Given the description of an element on the screen output the (x, y) to click on. 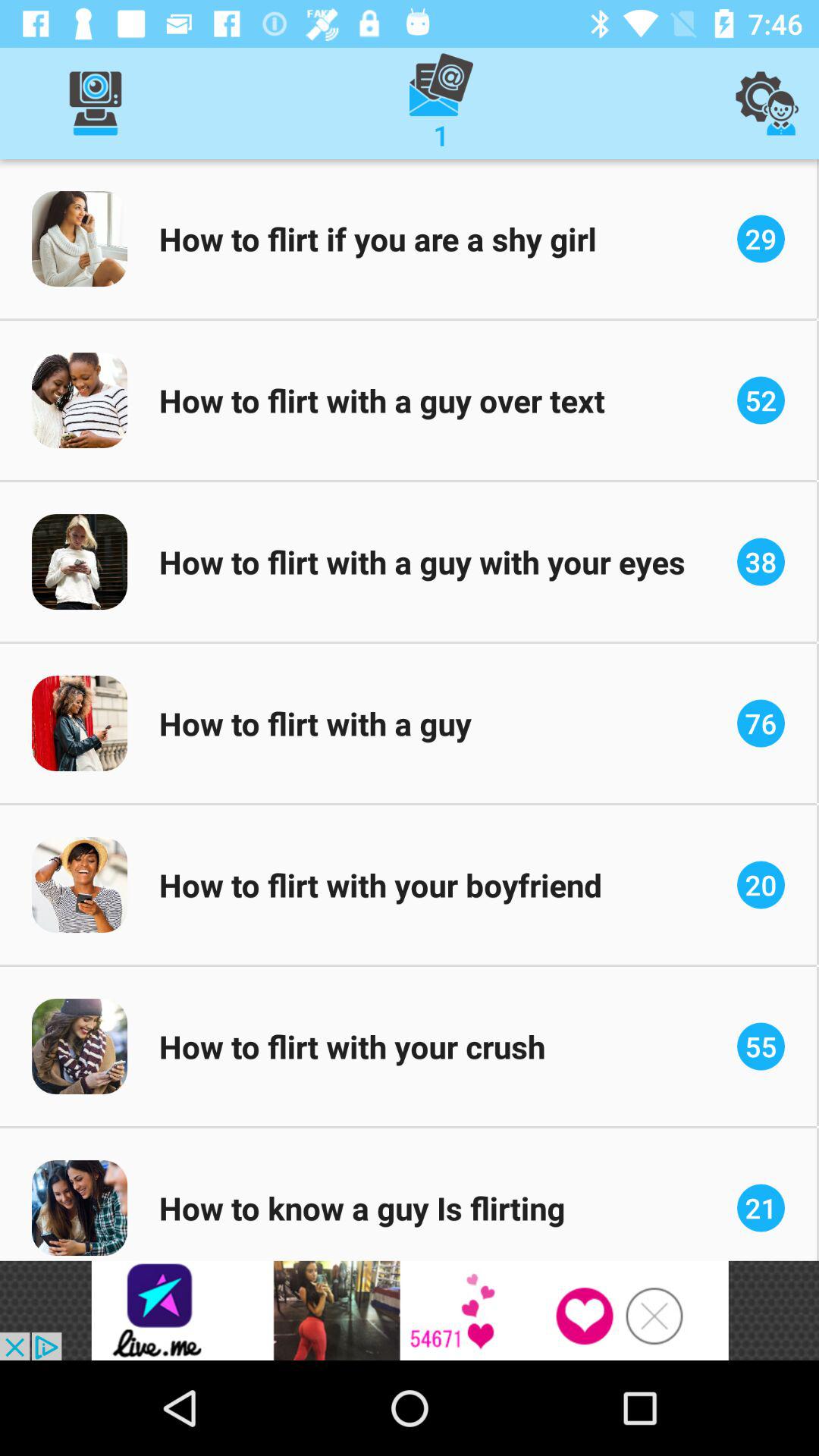
access advertising (409, 1310)
